Given the description of an element on the screen output the (x, y) to click on. 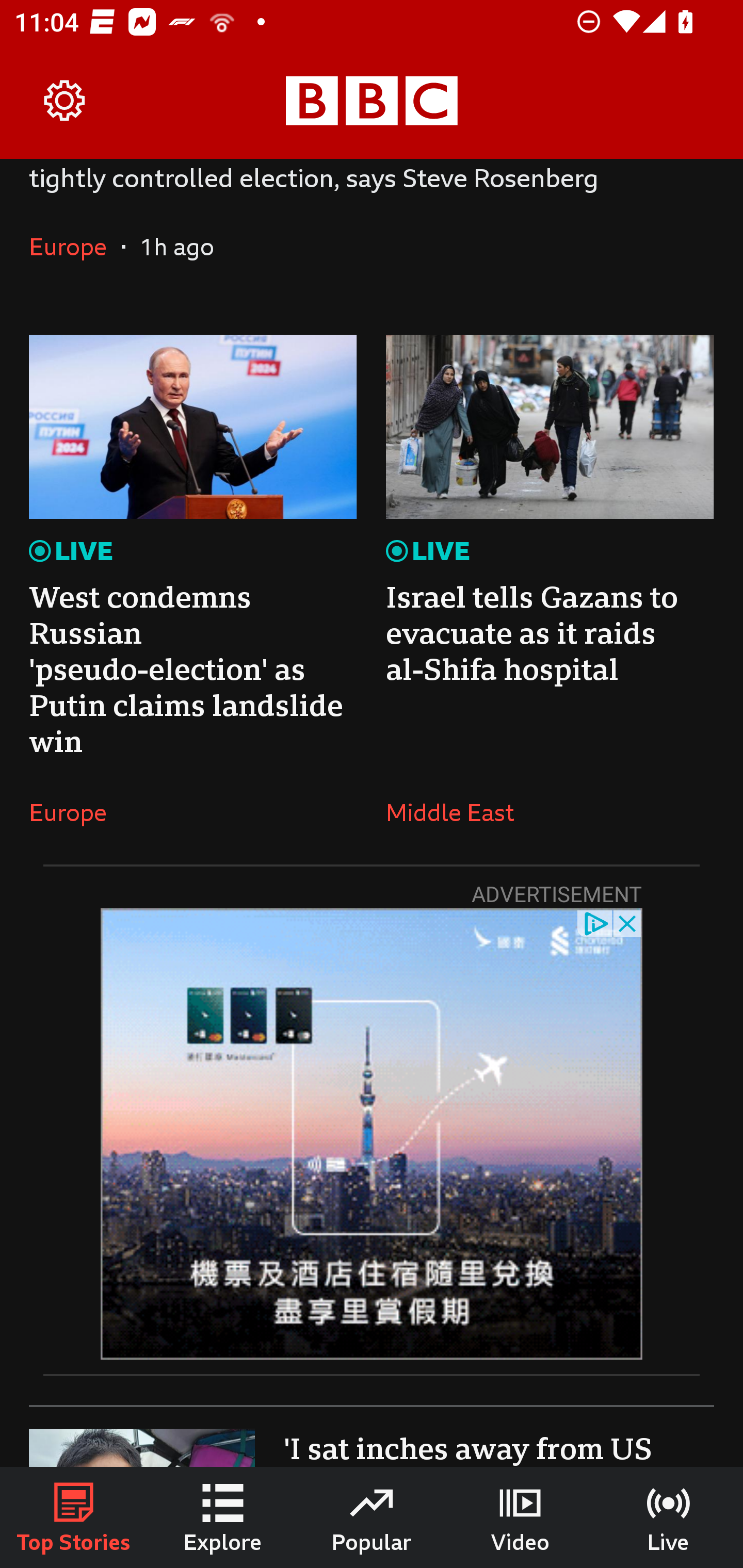
Settings (64, 100)
Europe In the section Europe (74, 245)
Europe In the section Europe (74, 811)
Middle East In the section Middle East (457, 811)
privacy_small (595, 922)
close_button (627, 922)
Explore (222, 1517)
Popular (371, 1517)
Video (519, 1517)
Live (668, 1517)
